Given the description of an element on the screen output the (x, y) to click on. 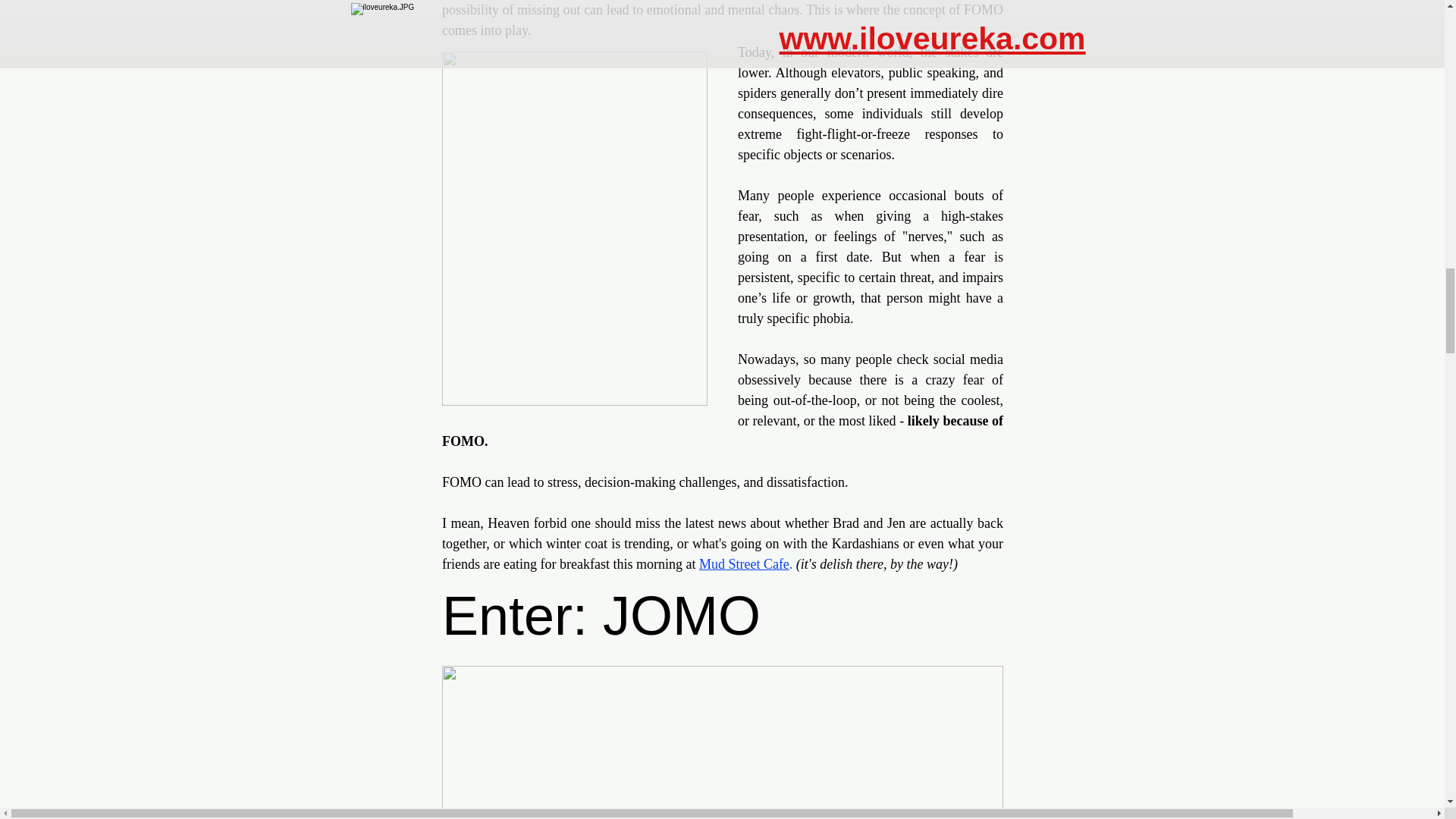
Mud Street Cafe (743, 563)
